Given the description of an element on the screen output the (x, y) to click on. 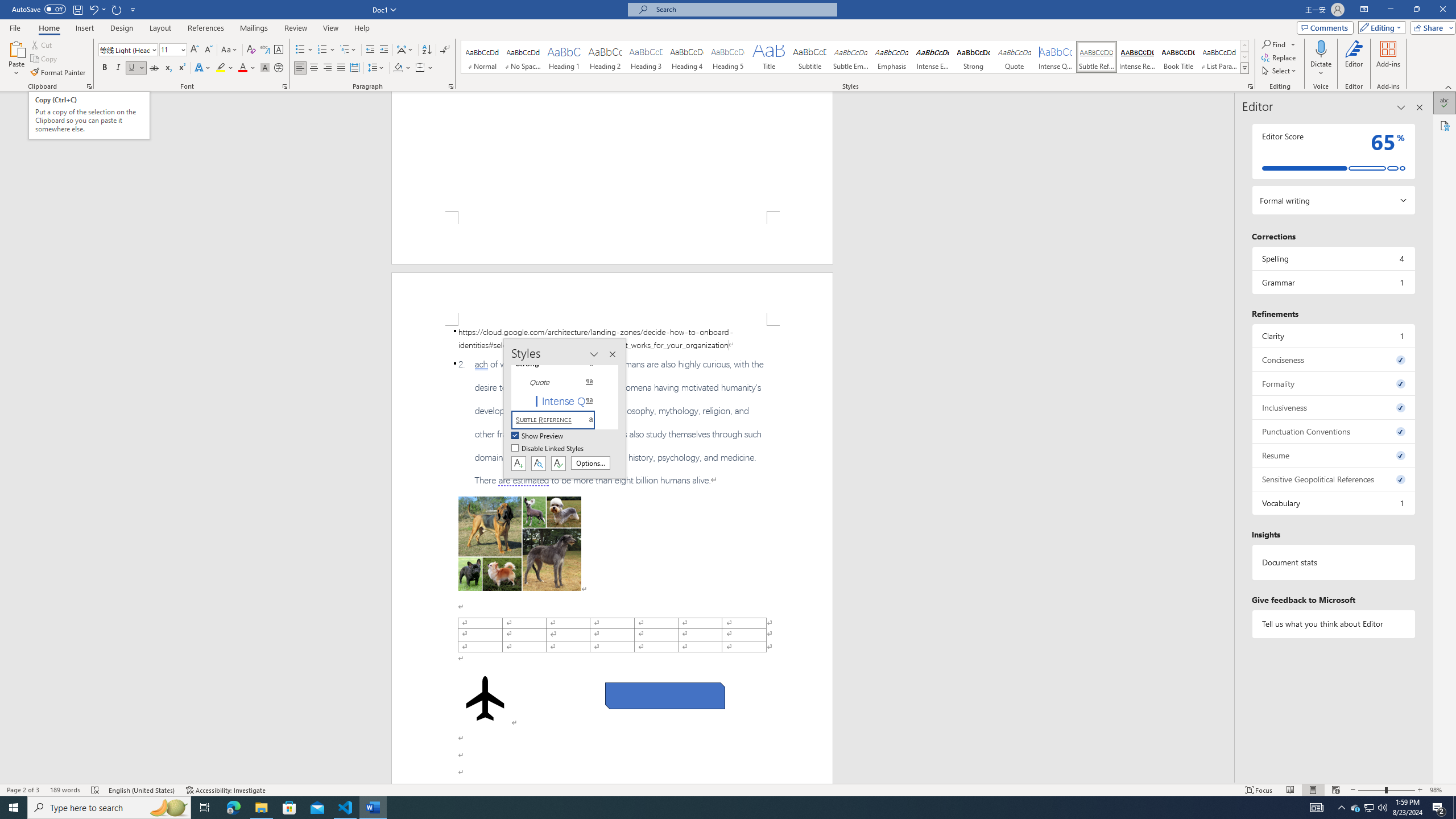
Intense Quote (1055, 56)
Spelling, 4 issues. Press space or enter to review items. (1333, 258)
Quote (1014, 56)
Class: NetUIButton (558, 463)
